Given the description of an element on the screen output the (x, y) to click on. 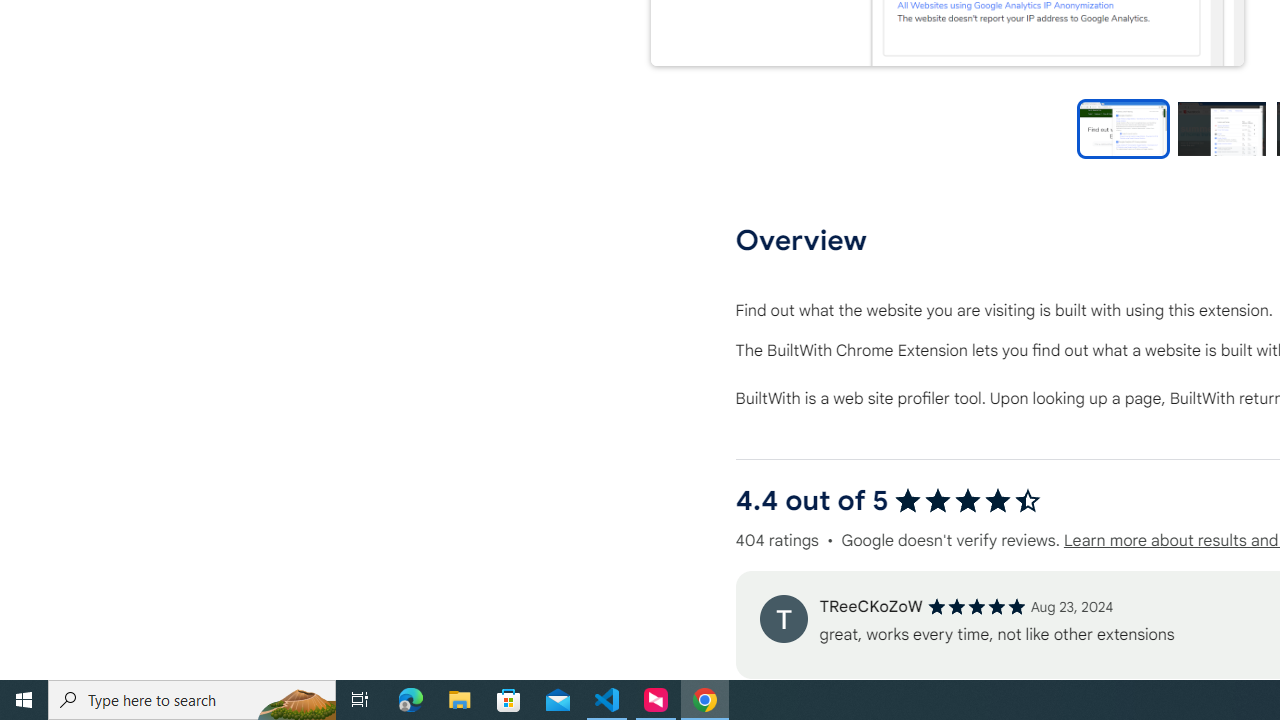
Google Chrome - 1 running window (704, 699)
